Given the description of an element on the screen output the (x, y) to click on. 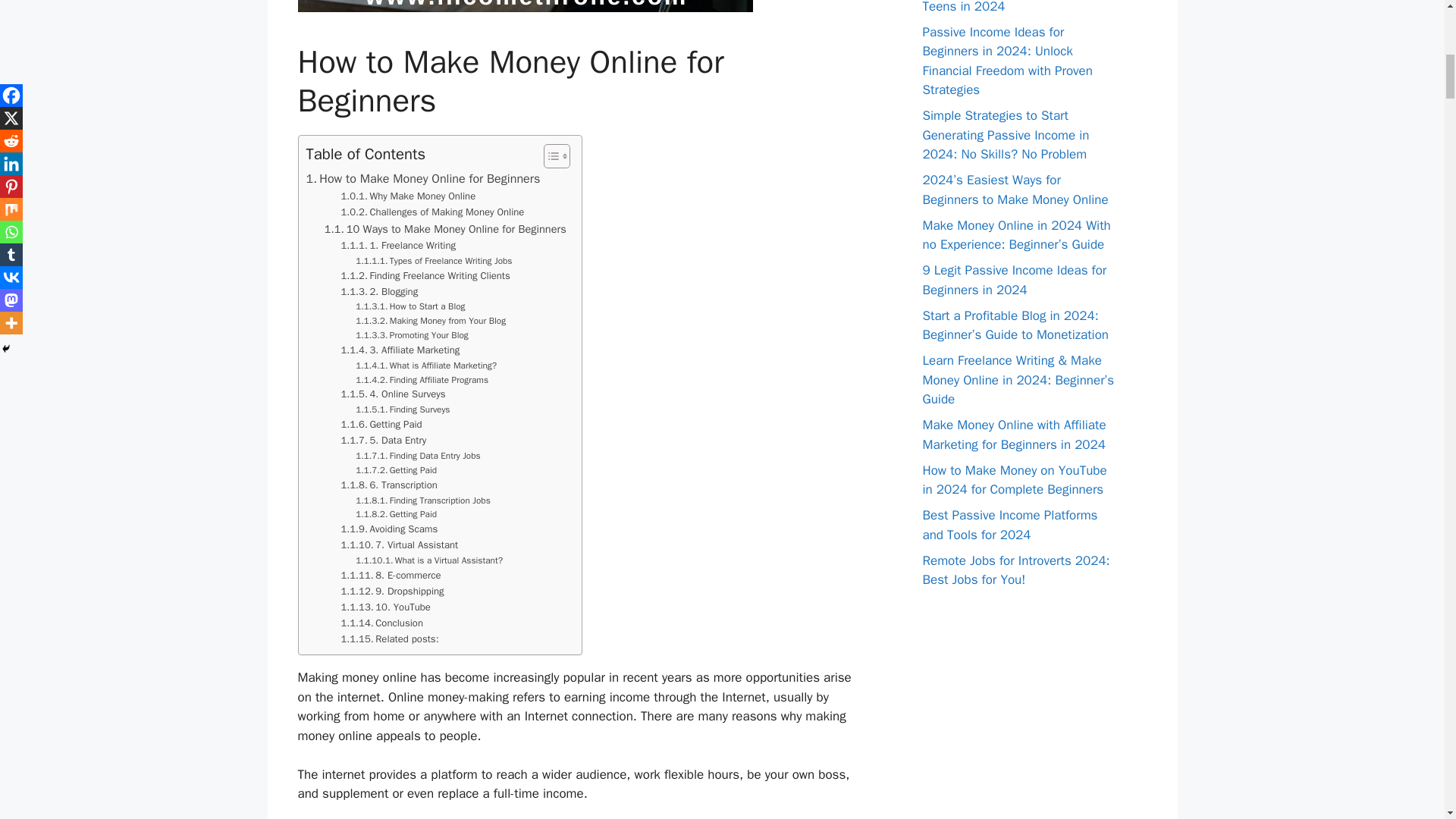
1. Freelance Writing (398, 245)
Types of Freelance Writing Jobs (433, 260)
What is a Virtual Assistant? (428, 560)
What is Affiliate Marketing? (425, 365)
Making Money from Your Blog (430, 320)
Getting Paid (395, 513)
7. Virtual Assistant (399, 545)
9. Dropshipping (392, 591)
Making Money from Your Blog (430, 320)
Avoiding Scams (389, 529)
Challenges of Making Money Online (432, 212)
How to Start a Blog (409, 306)
10. YouTube (385, 607)
6. Transcription (389, 485)
5. Data Entry (383, 440)
